Given the description of an element on the screen output the (x, y) to click on. 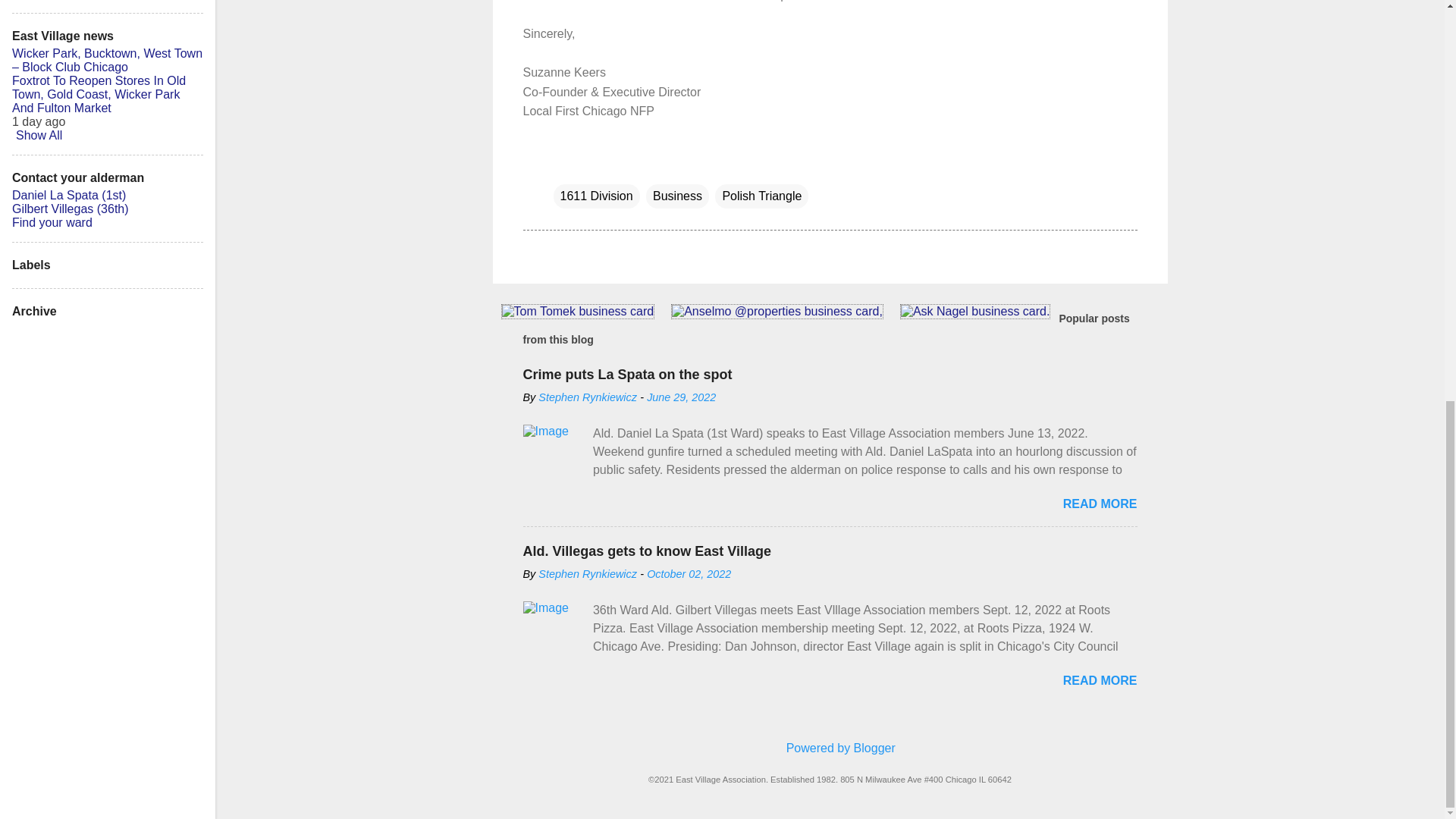
Email Post (562, 164)
Business (677, 196)
June 29, 2022 (681, 397)
READ MORE (1099, 680)
1611 Division (596, 196)
READ MORE (1099, 503)
Stephen Rynkiewicz (587, 397)
October 02, 2022 (688, 573)
Powered by Blogger (829, 748)
Ald. Villegas gets to know East Village (646, 550)
Stephen Rynkiewicz (587, 573)
Crime puts La Spata on the spot (627, 374)
Polish Triangle (761, 196)
